Given the description of an element on the screen output the (x, y) to click on. 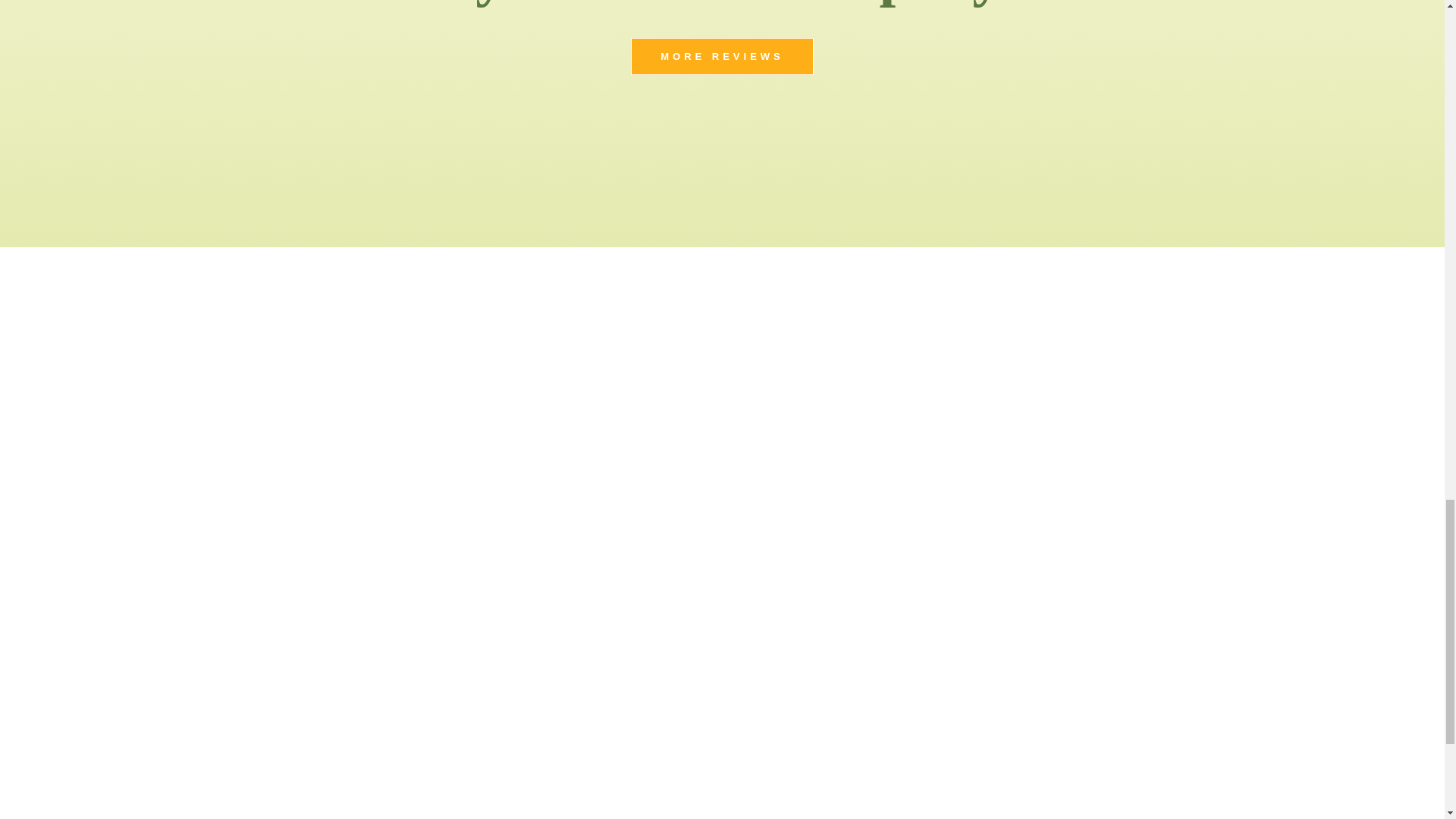
MORE REVIEWS (721, 56)
